Given the description of an element on the screen output the (x, y) to click on. 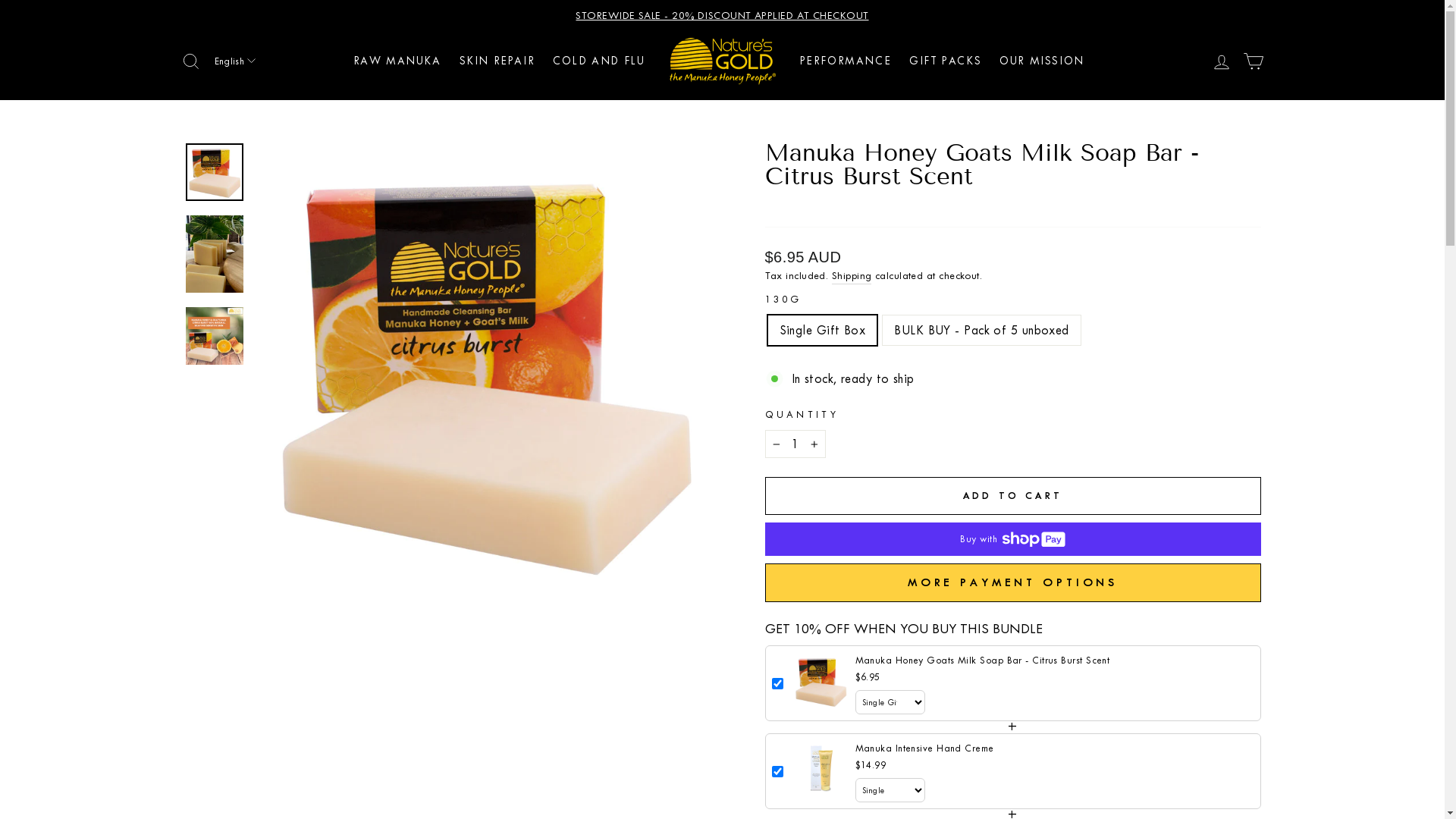
RAW MANUKA Element type: text (397, 61)
STOREWIDE SALE - 20% DISCOUNT APPLIED AT CHECKOUT Element type: text (722, 15)
PERFORMANCE Element type: text (845, 61)
CART Element type: text (1253, 61)
English Element type: text (234, 60)
MORE PAYMENT OPTIONS Element type: text (1012, 582)
ADD TO CART Element type: text (1012, 495)
+ Element type: text (813, 443)
COLD AND FLU Element type: text (598, 61)
Shipping Element type: text (851, 275)
SKIN REPAIR Element type: text (497, 61)
GIFT PACKS Element type: text (945, 61)
OUR MISSION Element type: text (1041, 61)
ACCOUNT
LOG IN Element type: text (1221, 61)
ICON-SEARCH
SEARCH Element type: text (190, 61)
